Given the description of an element on the screen output the (x, y) to click on. 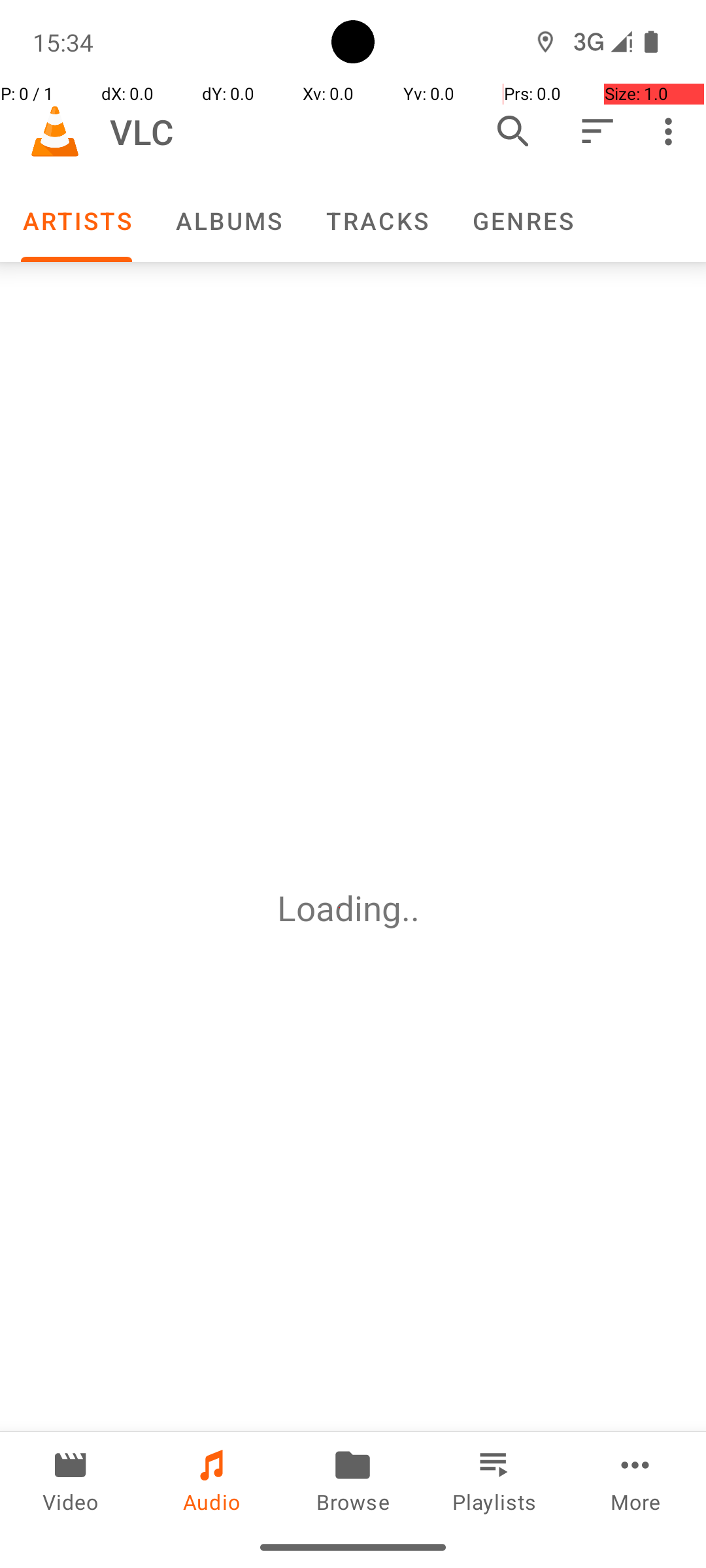
Sort by… Element type: android.widget.TextView (595, 131)
Loading Element type: android.widget.TextView (339, 907)
.. Element type: android.widget.TextView (414, 907)
Tracks Element type: android.widget.LinearLayout (376, 220)
Genres Element type: android.widget.LinearLayout (521, 220)
Video Element type: android.widget.FrameLayout (70, 1478)
Browse Element type: android.widget.FrameLayout (352, 1478)
ARTISTS Element type: android.widget.TextView (76, 220)
ALBUMS Element type: android.widget.TextView (227, 220)
TRACKS Element type: android.widget.TextView (376, 220)
GENRES Element type: android.widget.TextView (521, 220)
